Given the description of an element on the screen output the (x, y) to click on. 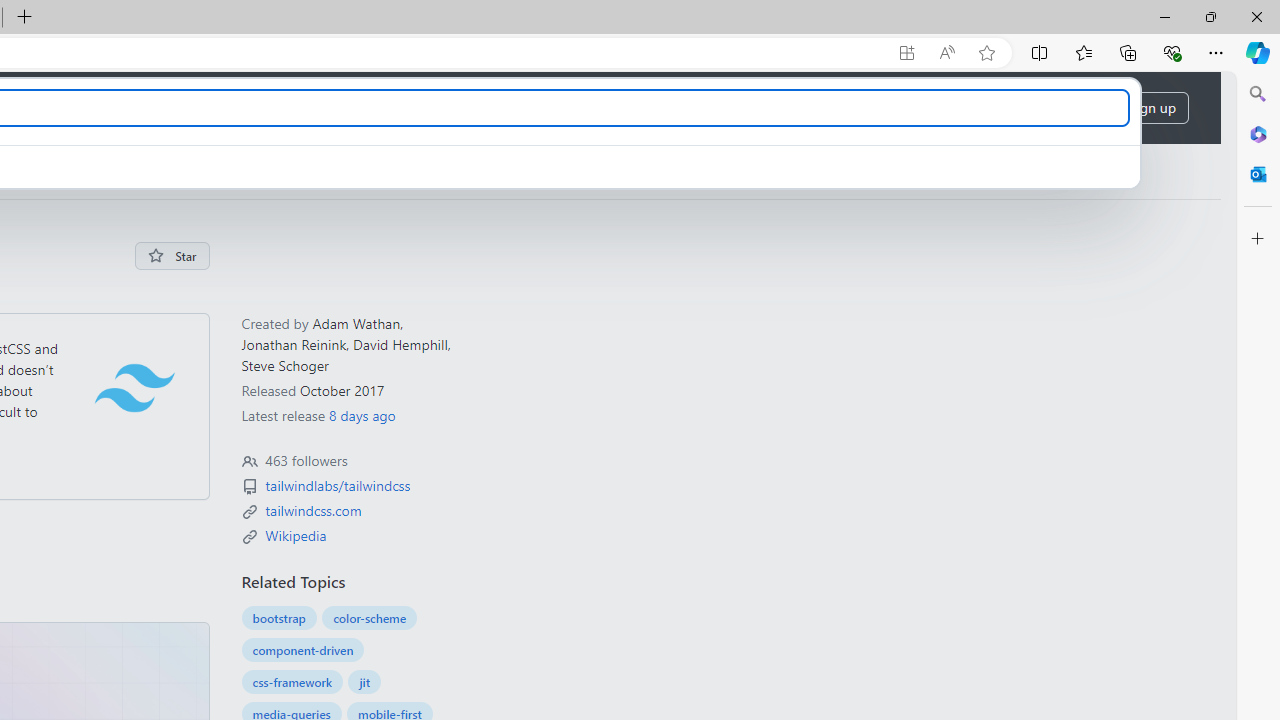
App available. Install GitHub (906, 53)
tailwindlabs/tailwindcss (337, 485)
bootstrap (278, 618)
en.wikipedia.org/wiki/Tailwind_CSS (295, 534)
Sign up (1152, 107)
tailwindcss.com (313, 510)
color-scheme (370, 618)
